Given the description of an element on the screen output the (x, y) to click on. 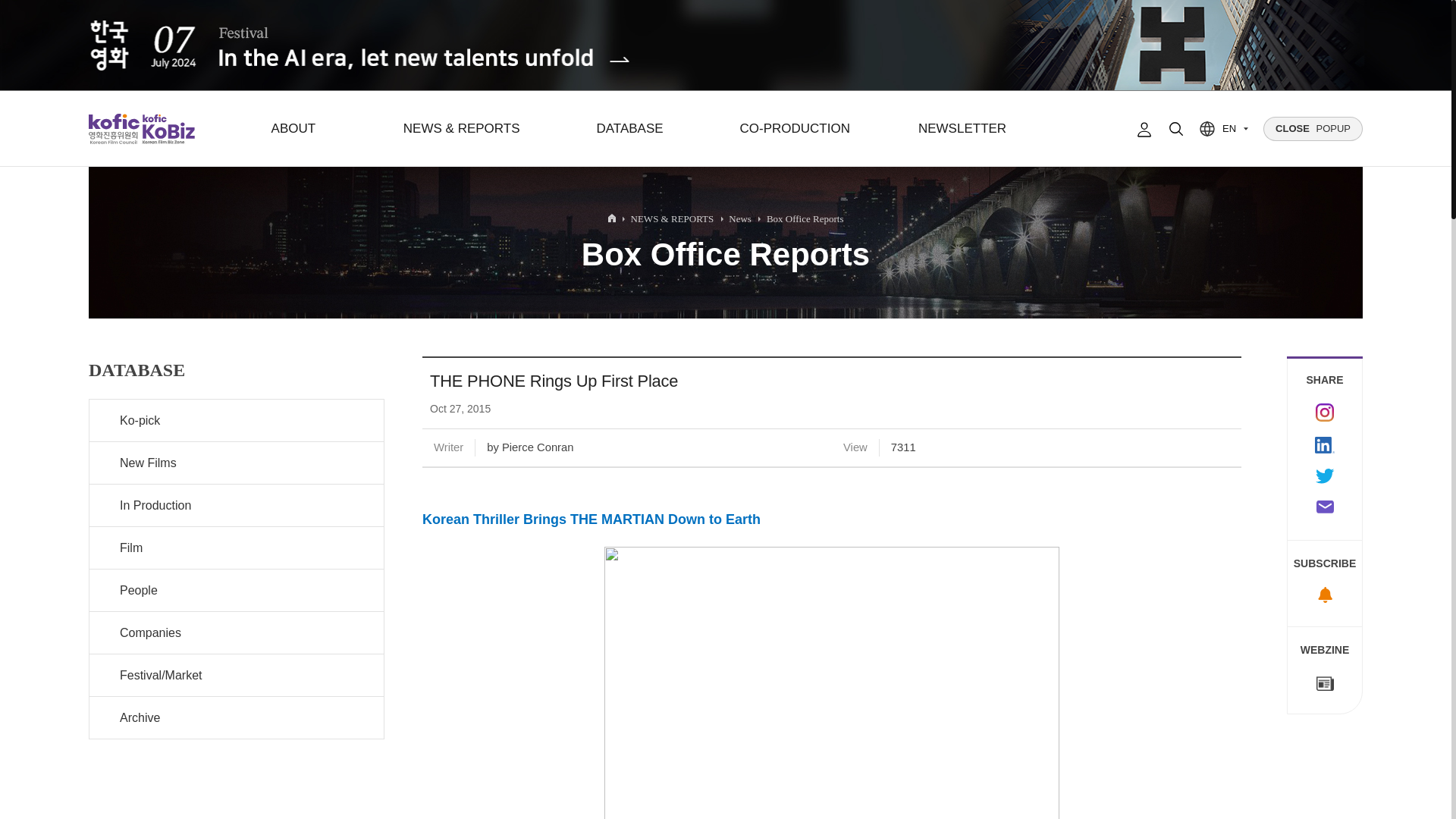
POPUP (1312, 128)
NEWSLETTER (962, 128)
ABOUT (292, 128)
ABOUT (292, 128)
Search open (1176, 128)
Login (1144, 128)
DATABASE (628, 128)
CO-PRODUCTION (793, 128)
CO-PRODUCTION (793, 128)
DATABASE (628, 128)
Kofic (113, 128)
Kobiz (167, 128)
NEWSLETTER (962, 128)
